Given the description of an element on the screen output the (x, y) to click on. 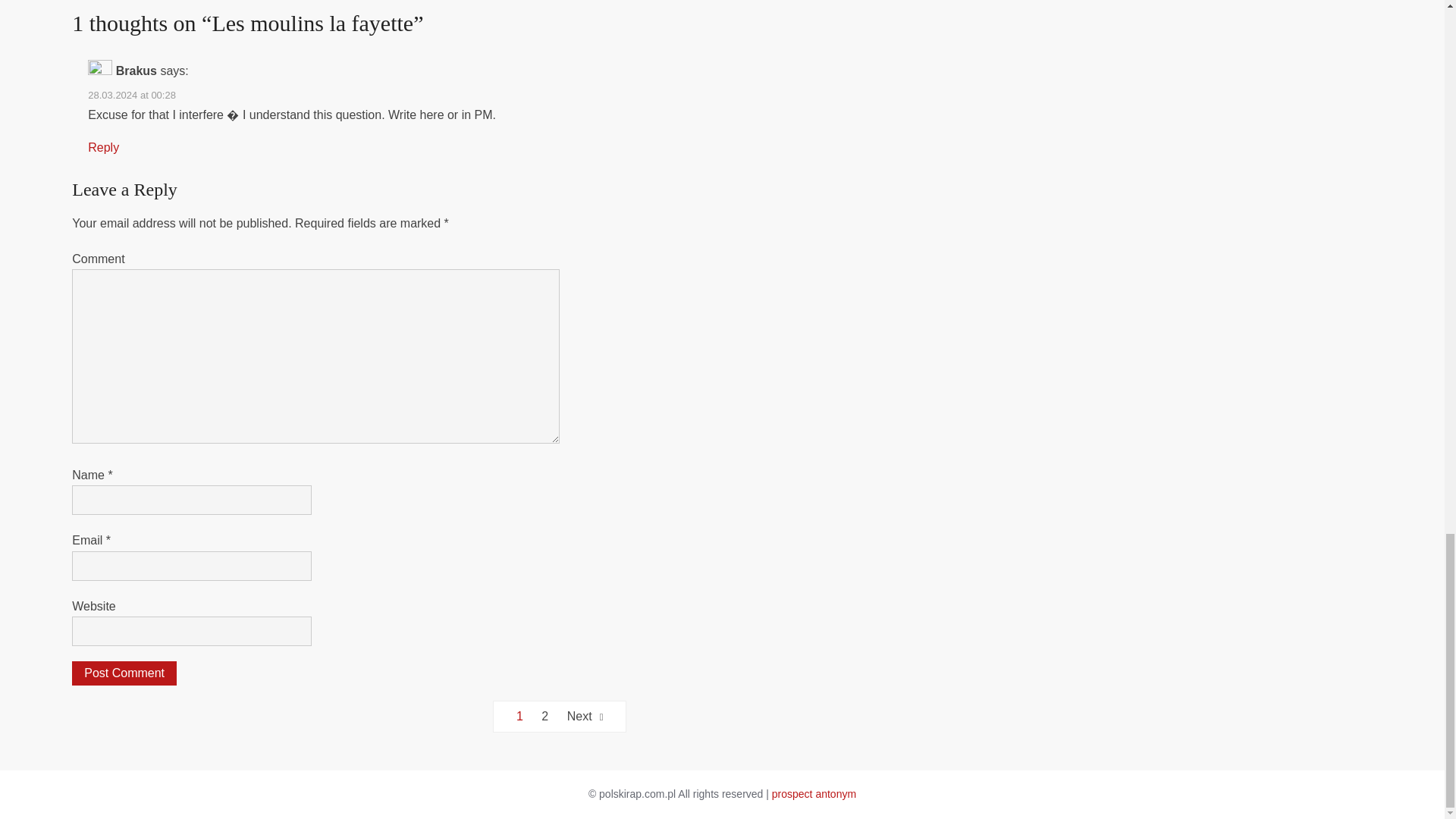
prospect antonym (813, 793)
Next (585, 716)
Reply (103, 146)
28.03.2024 at 00:28 (131, 94)
Post Comment (123, 672)
Post Comment (123, 672)
